Given the description of an element on the screen output the (x, y) to click on. 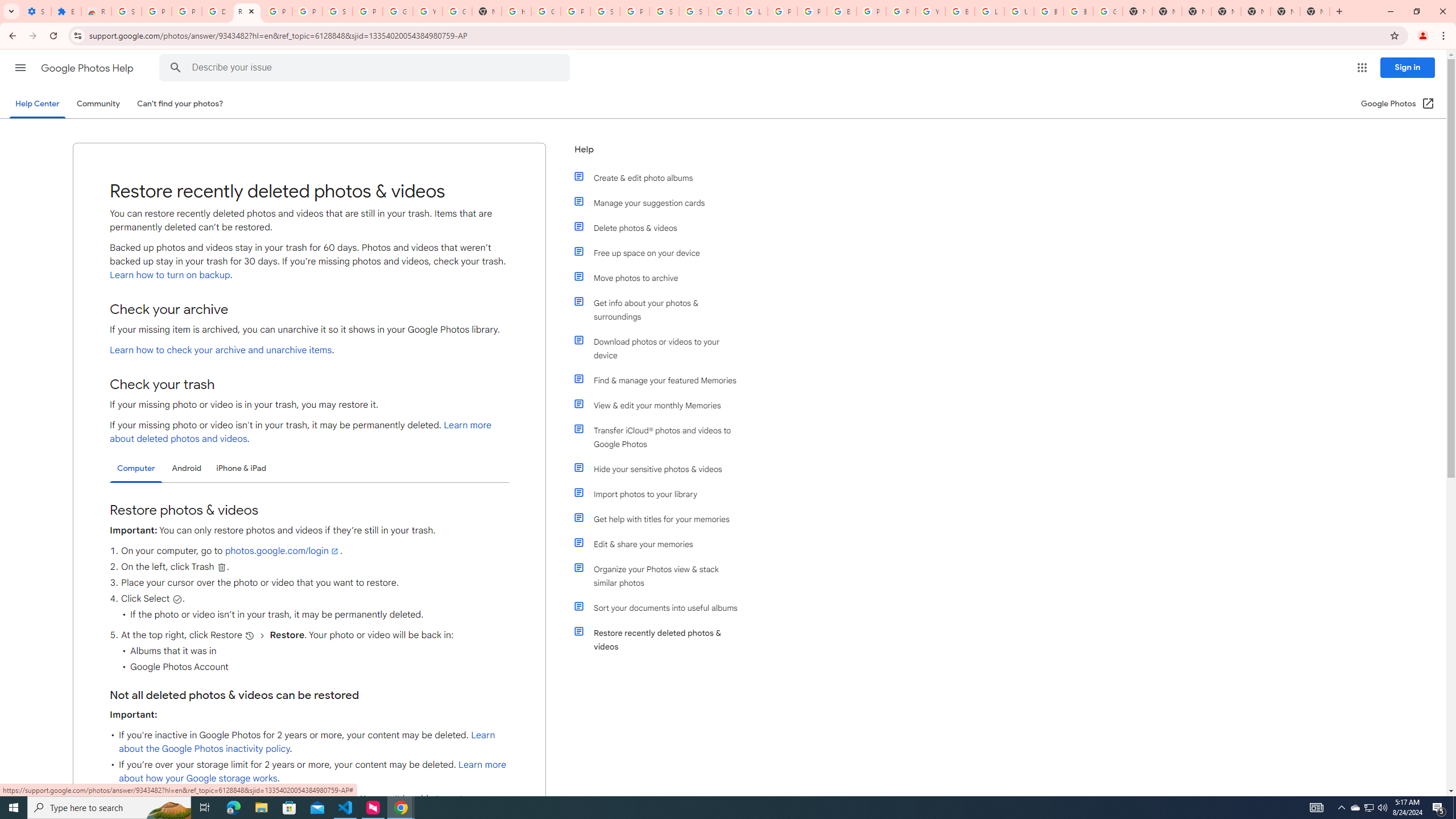
Settings - On startup (36, 11)
Move photos to archive (661, 277)
Google Photos Help (87, 68)
Browse Chrome as a guest - Computer - Google Chrome Help (959, 11)
Learn more about deleted photos and videos (300, 431)
Sign in - Google Accounts (664, 11)
Chrome (1445, 35)
Import photos to your library (661, 493)
Get help with titles for your memories (661, 518)
iPhone & iPad (240, 468)
